Given the description of an element on the screen output the (x, y) to click on. 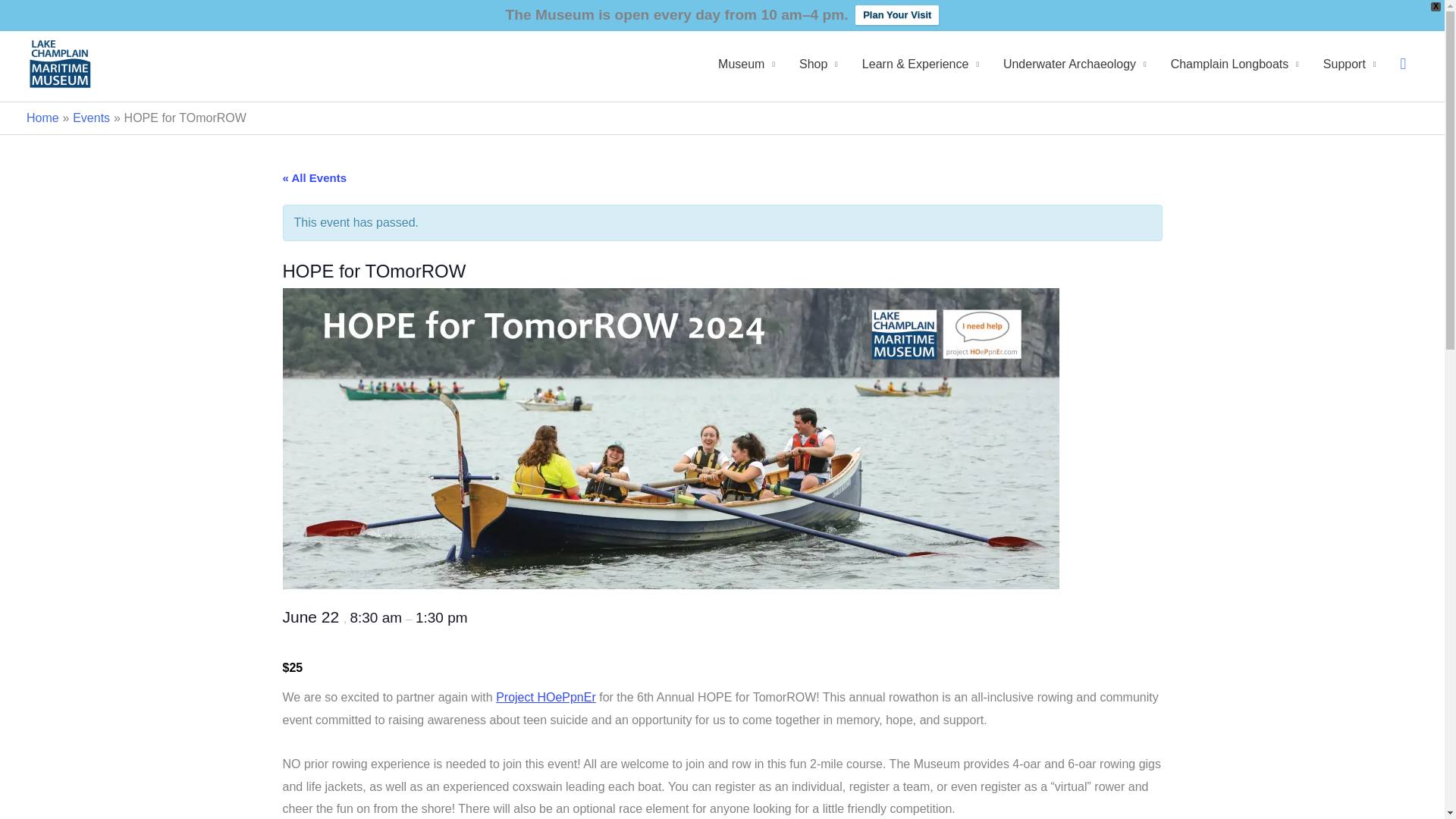
Plan Your Visit (897, 14)
Museum (746, 63)
